Given the description of an element on the screen output the (x, y) to click on. 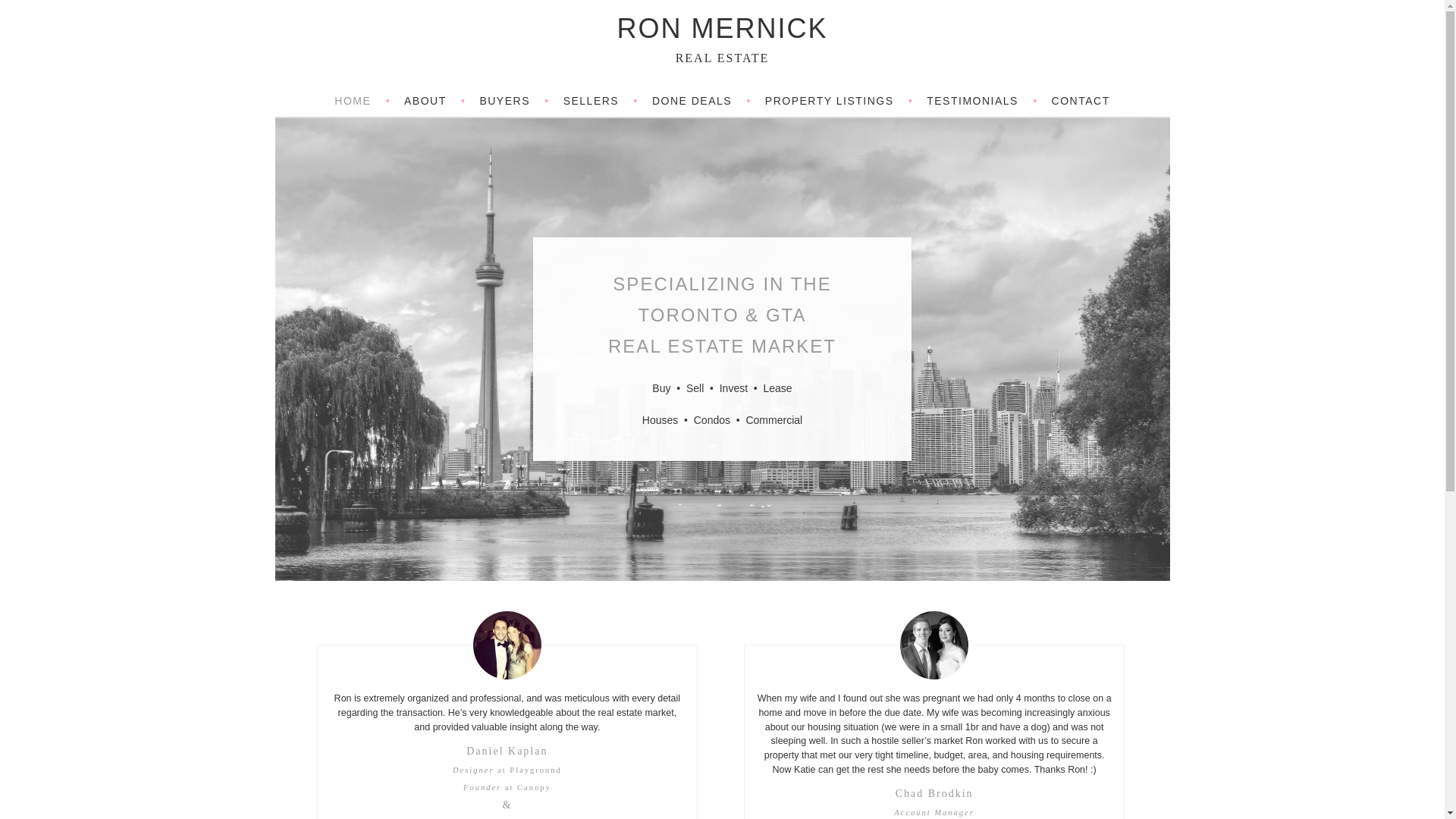
BUYERS (513, 100)
HOME (362, 100)
DONE DEALS (701, 100)
ABOUT (434, 100)
CONTACT (1080, 100)
RON MERNICK (721, 28)
Ron Mernick (721, 28)
TESTIMONIALS (981, 100)
PROPERTY LISTINGS (839, 100)
SELLERS (601, 100)
